Given the description of an element on the screen output the (x, y) to click on. 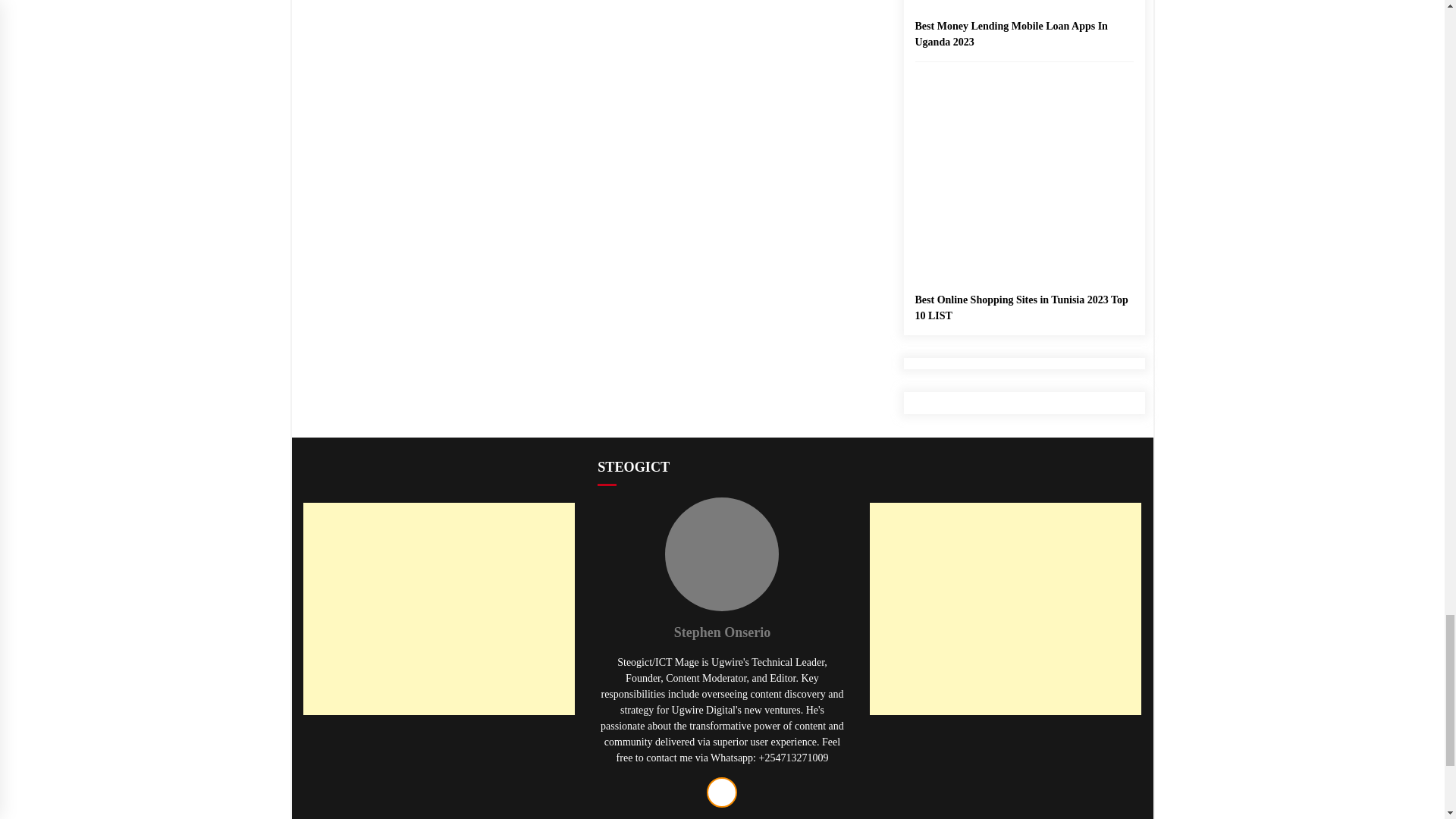
Best Online Shopping Sites in Tunisia 2023 Top 10 LIST (1023, 249)
Best Money Lending Mobile Loan Apps In Uganda 2023 (1023, 24)
Advertisement (438, 775)
Advertisement (1005, 775)
